Given the description of an element on the screen output the (x, y) to click on. 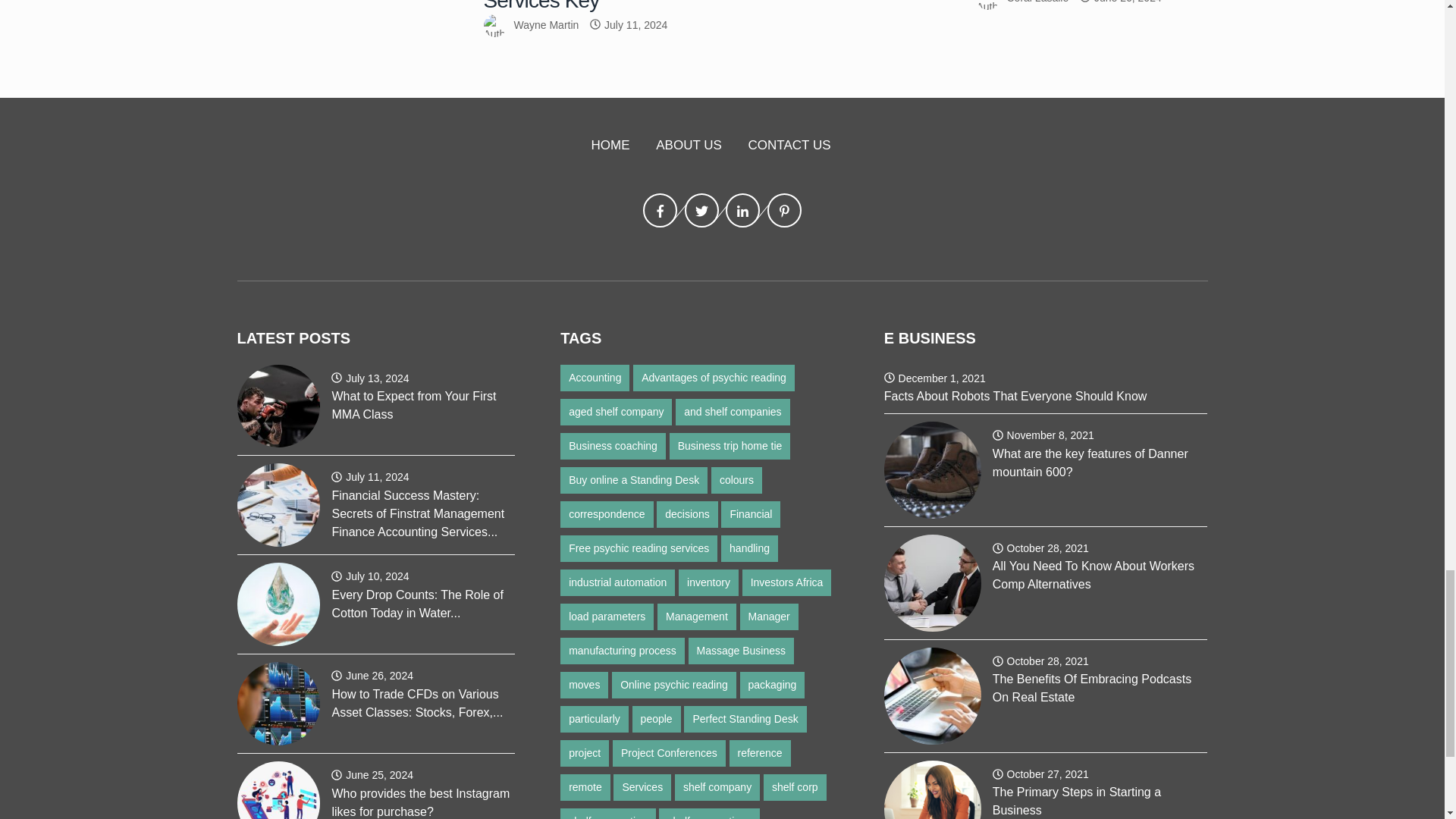
What are the key features of Danner mountain 600? (932, 469)
What to Expect from Your First MMA Class (277, 405)
Who provides the best Instagram likes for purchase? (277, 790)
